Given the description of an element on the screen output the (x, y) to click on. 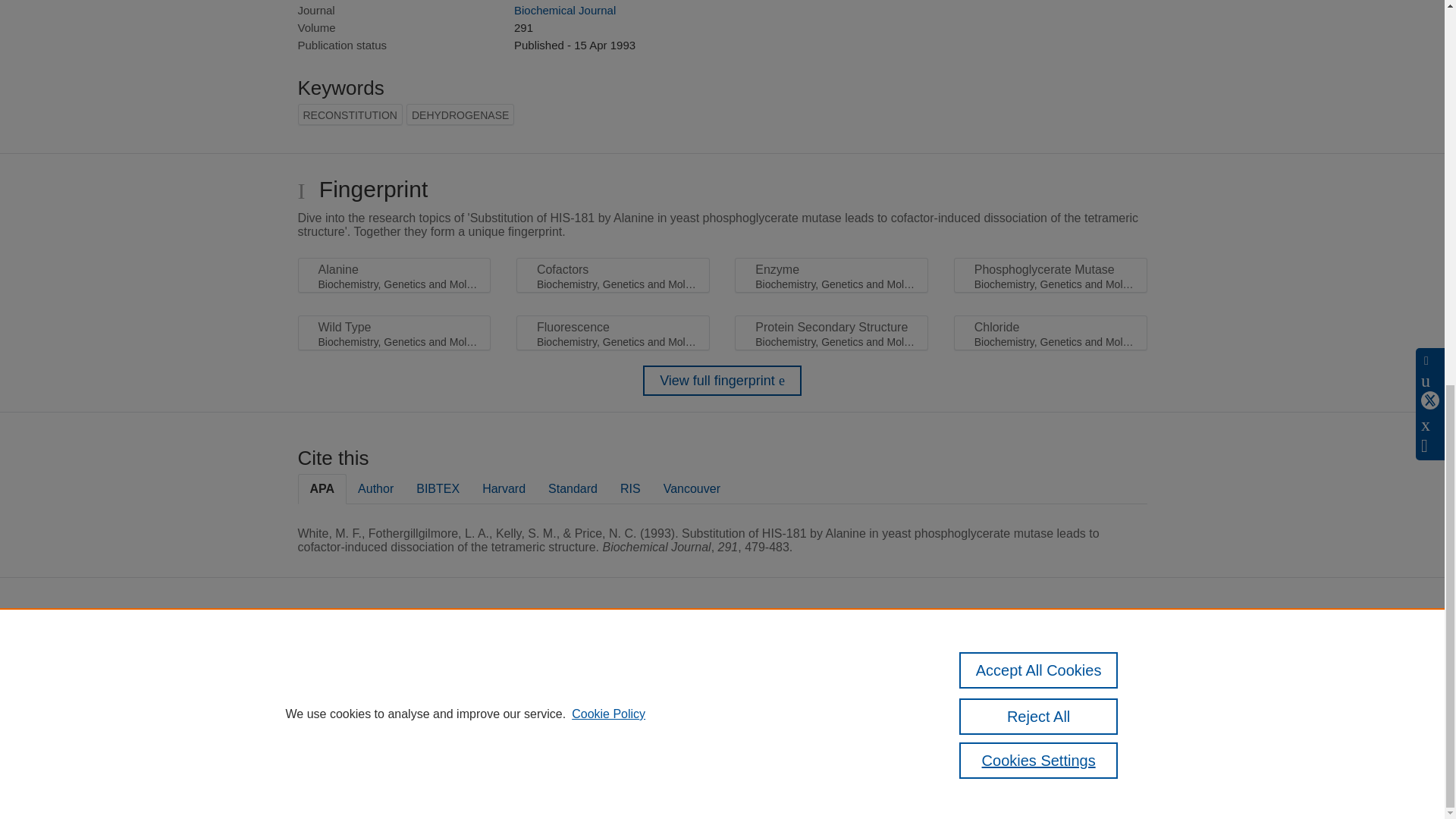
Scopus (652, 653)
Pure (620, 653)
Biochemical Journal (564, 10)
View full fingerprint (722, 380)
